Given the description of an element on the screen output the (x, y) to click on. 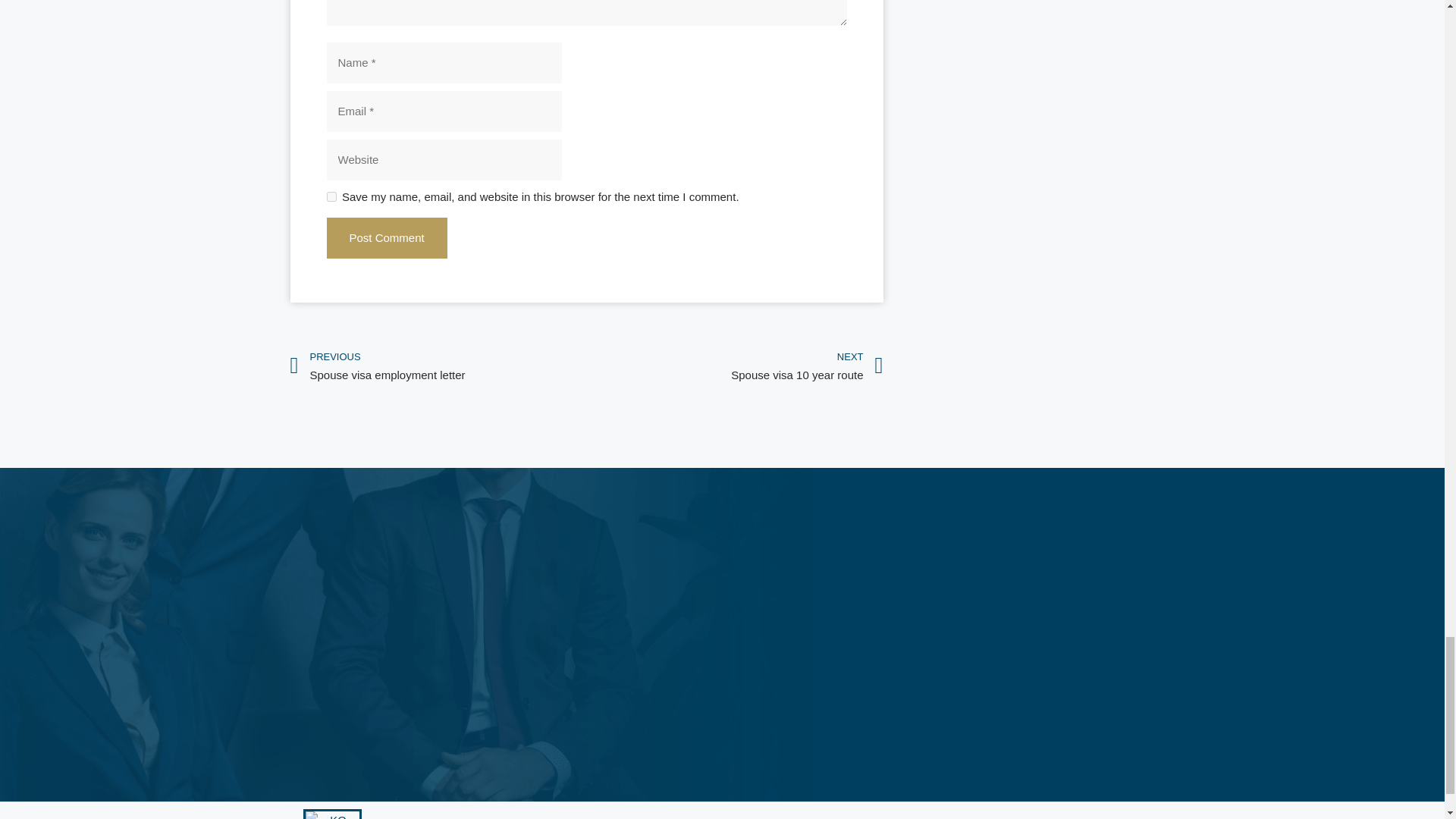
yes (331, 196)
Post Comment (386, 237)
